Given the description of an element on the screen output the (x, y) to click on. 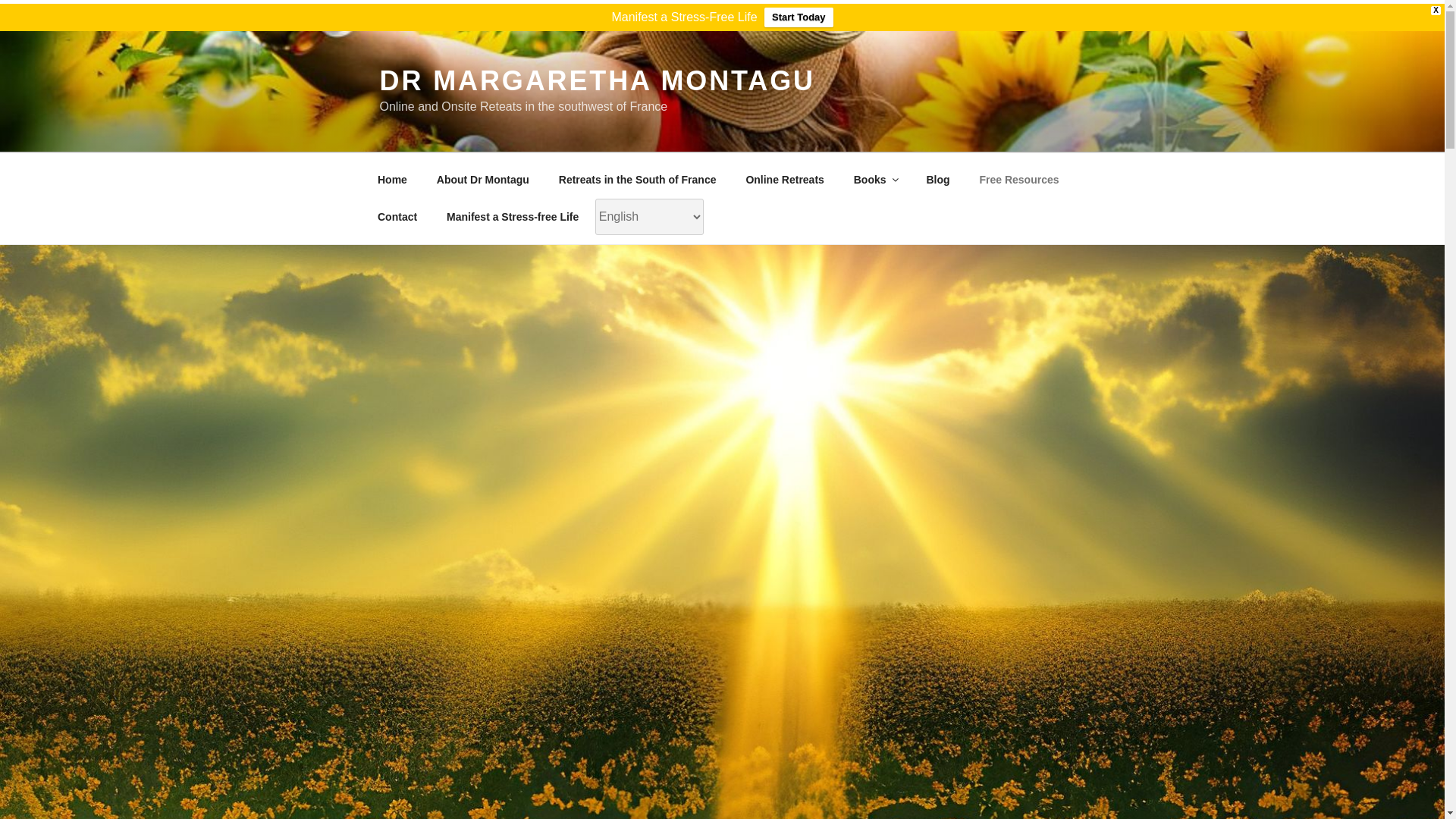
Manifest a Stress-free Life (512, 217)
Start Today (798, 17)
Blog (937, 179)
DR MARGARETHA MONTAGU (595, 80)
Online Retreats (784, 179)
About Dr Montagu (482, 179)
Contact (396, 217)
Home (392, 179)
Retreats in the South of France (636, 179)
Free Resources (1018, 179)
Books (875, 179)
